Given the description of an element on the screen output the (x, y) to click on. 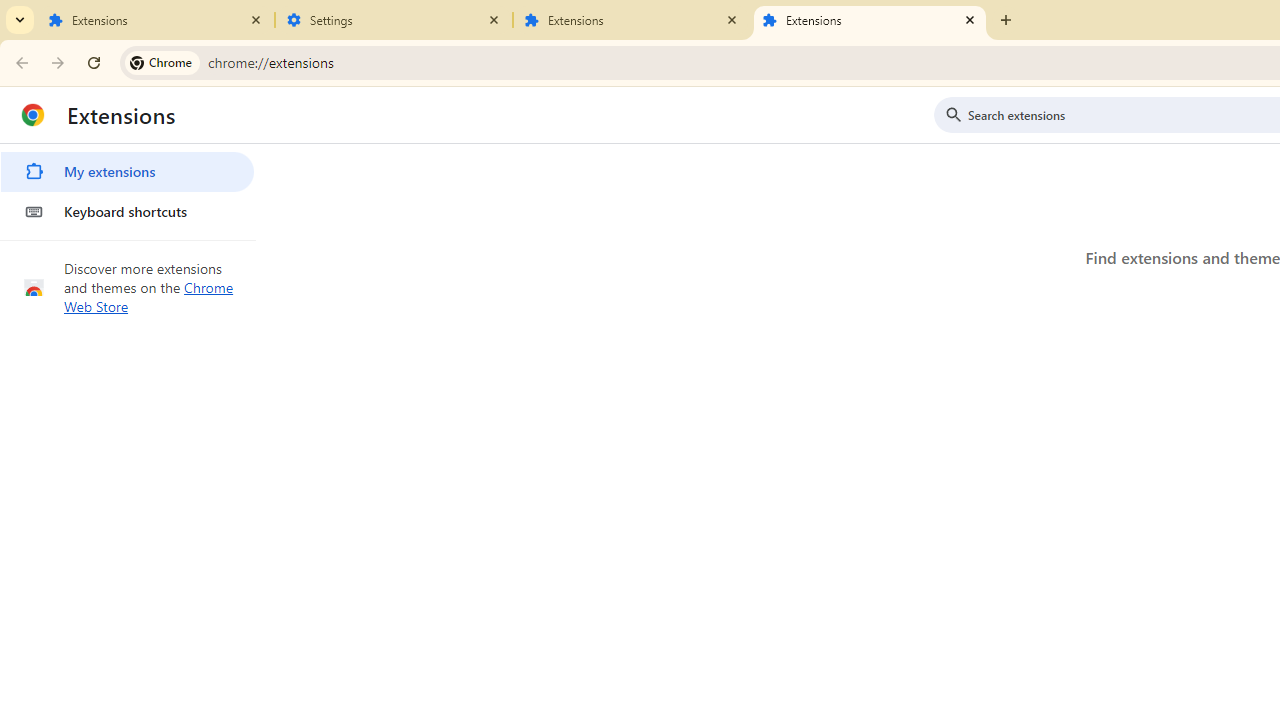
Extensions (632, 20)
Settings (394, 20)
AutomationID: sectionMenu (128, 187)
Extensions (870, 20)
My extensions (127, 171)
Keyboard shortcuts (127, 211)
